Given the description of an element on the screen output the (x, y) to click on. 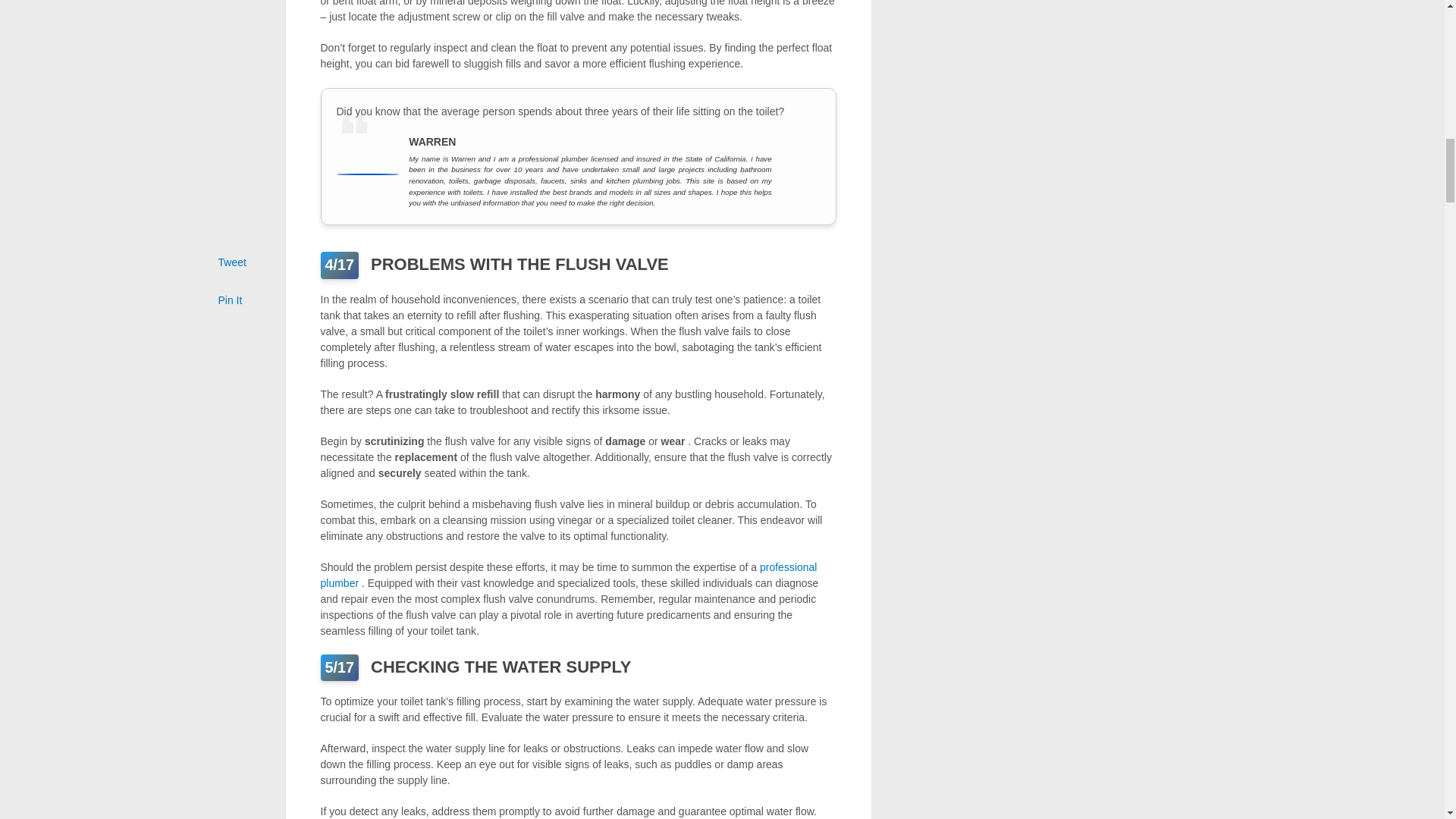
professional plumber (568, 574)
